Given the description of an element on the screen output the (x, y) to click on. 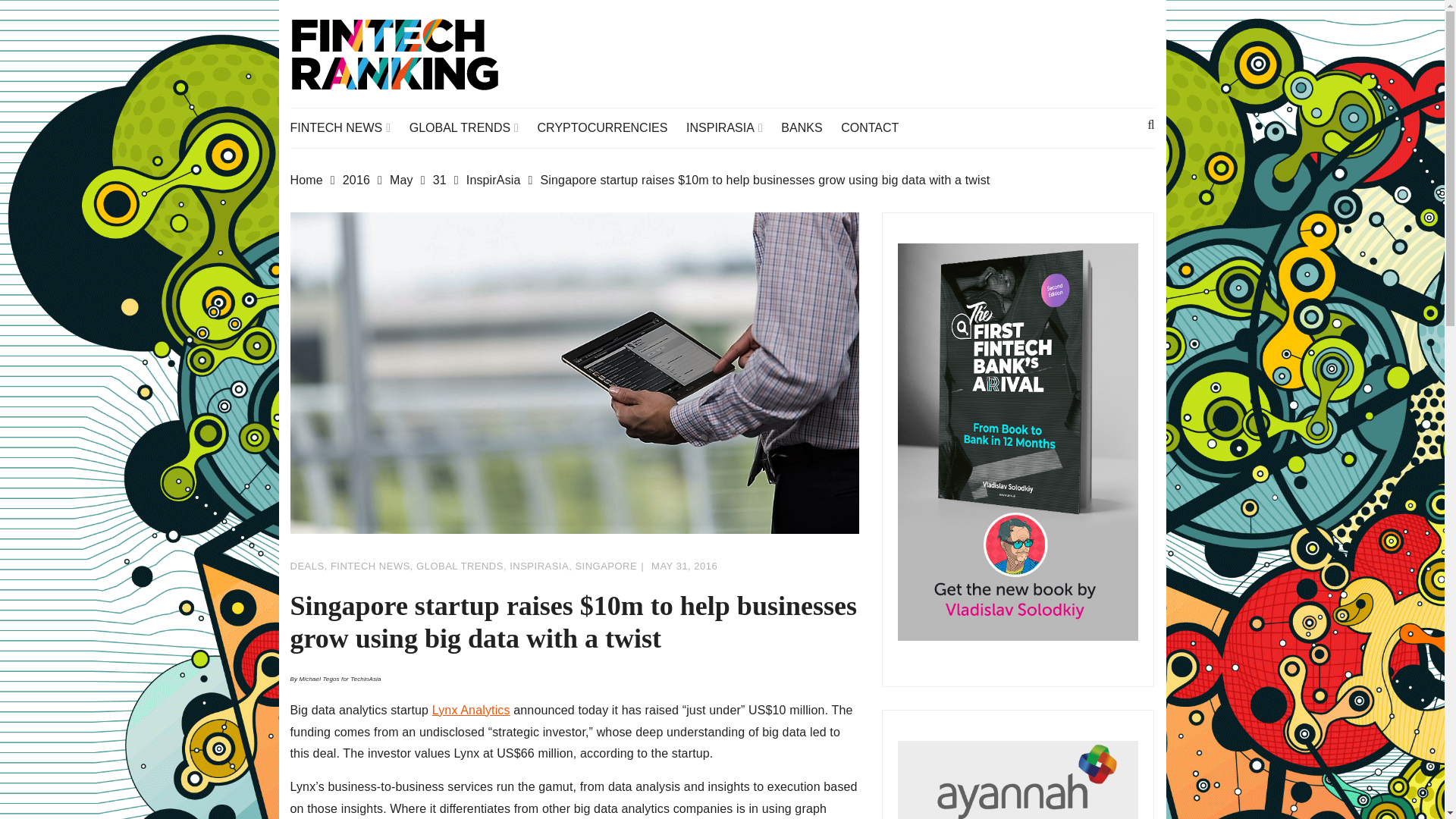
GLOBAL TRENDS (471, 128)
INSPIRASIA (731, 128)
FINTECH NEWS (347, 128)
CRYPTOCURRENCIES (609, 128)
CONTACT (877, 128)
BANKS (808, 128)
